Given the description of an element on the screen output the (x, y) to click on. 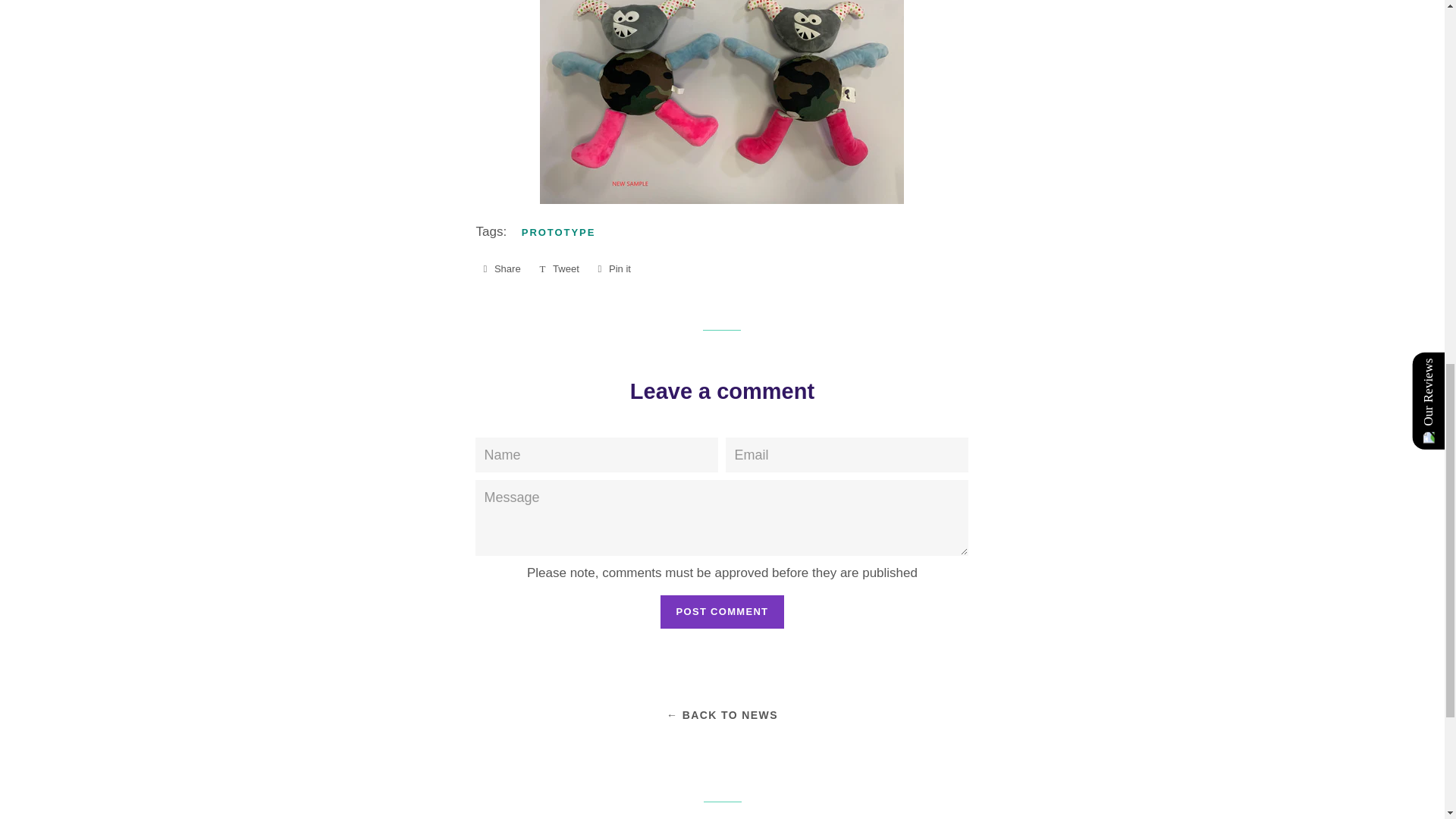
Share on Facebook (501, 268)
Post comment (722, 611)
Tweet on Twitter (558, 268)
Pin on Pinterest (613, 268)
